Given the description of an element on the screen output the (x, y) to click on. 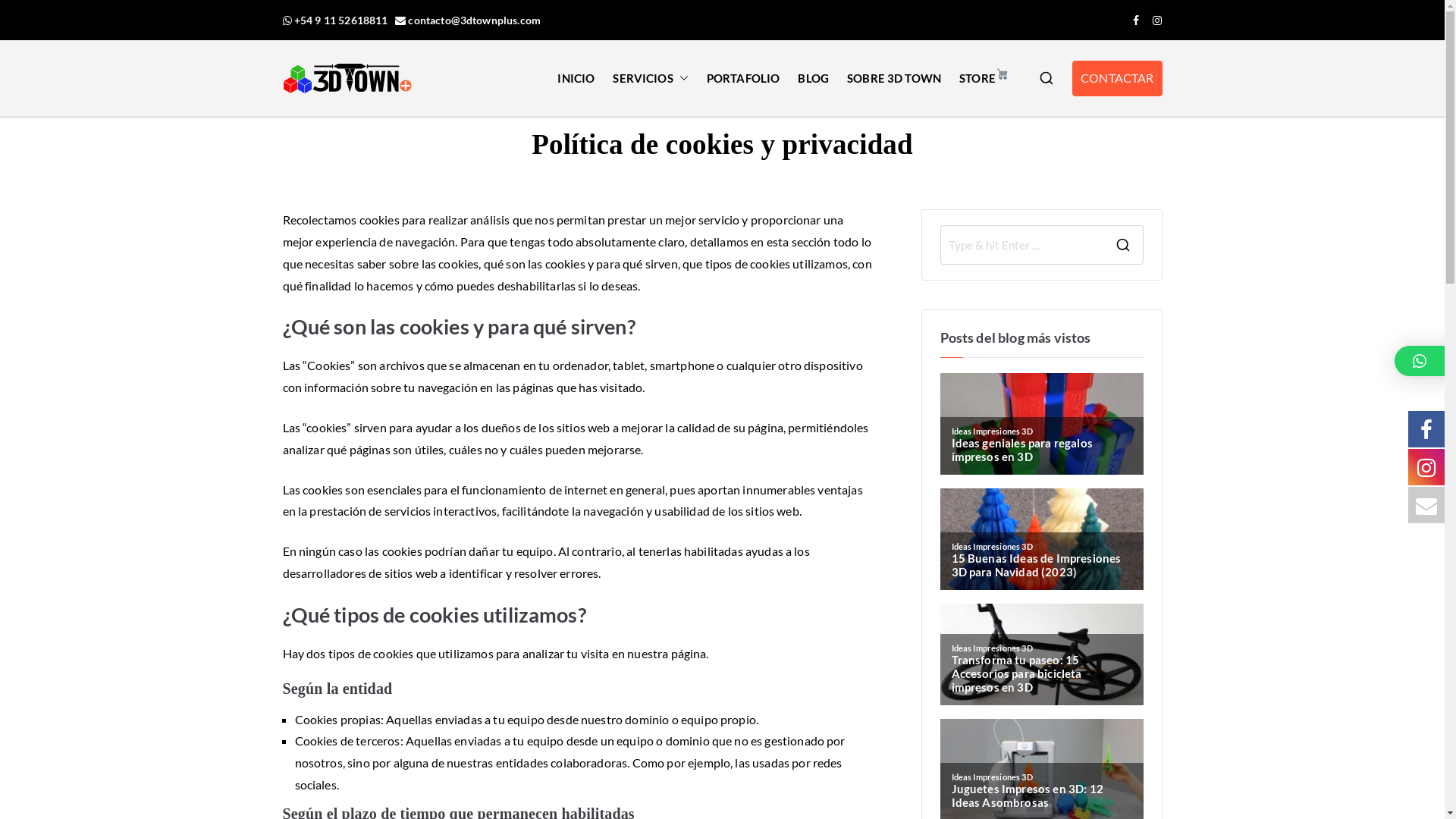
Search Element type: text (24, 18)
Search for: Element type: hover (1021, 244)
PORTAFOLIO Element type: text (743, 78)
INICIO Element type: text (575, 78)
CONTACTAR Element type: text (1116, 78)
STORE Element type: text (983, 78)
BLOG Element type: text (812, 78)
3D Town Element type: text (486, 97)
SERVICIOS Element type: text (649, 78)
Search Element type: text (25, 13)
SOBRE 3D TOWN Element type: text (894, 78)
